Given the description of an element on the screen output the (x, y) to click on. 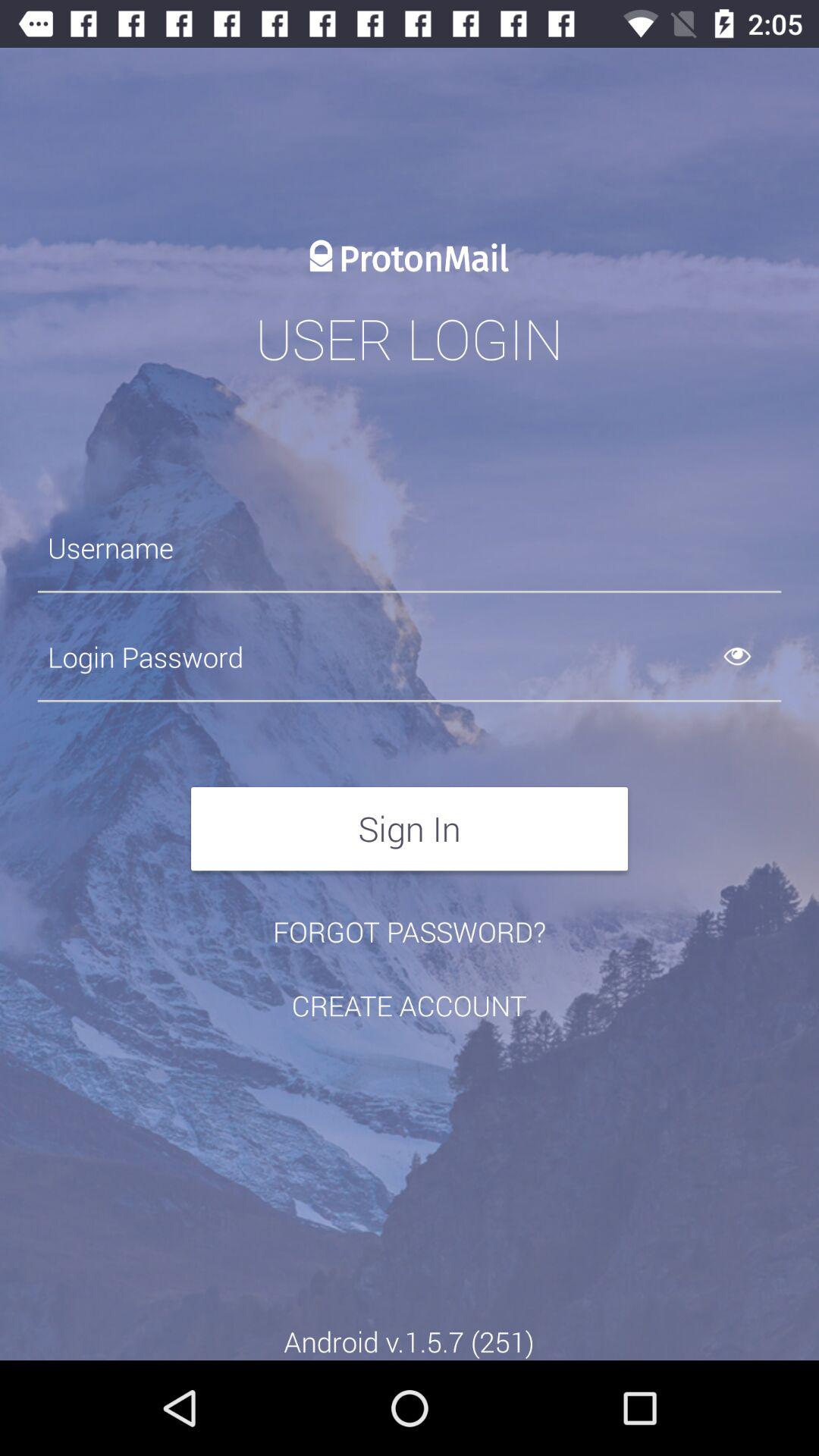
scroll until sign in (409, 828)
